Given the description of an element on the screen output the (x, y) to click on. 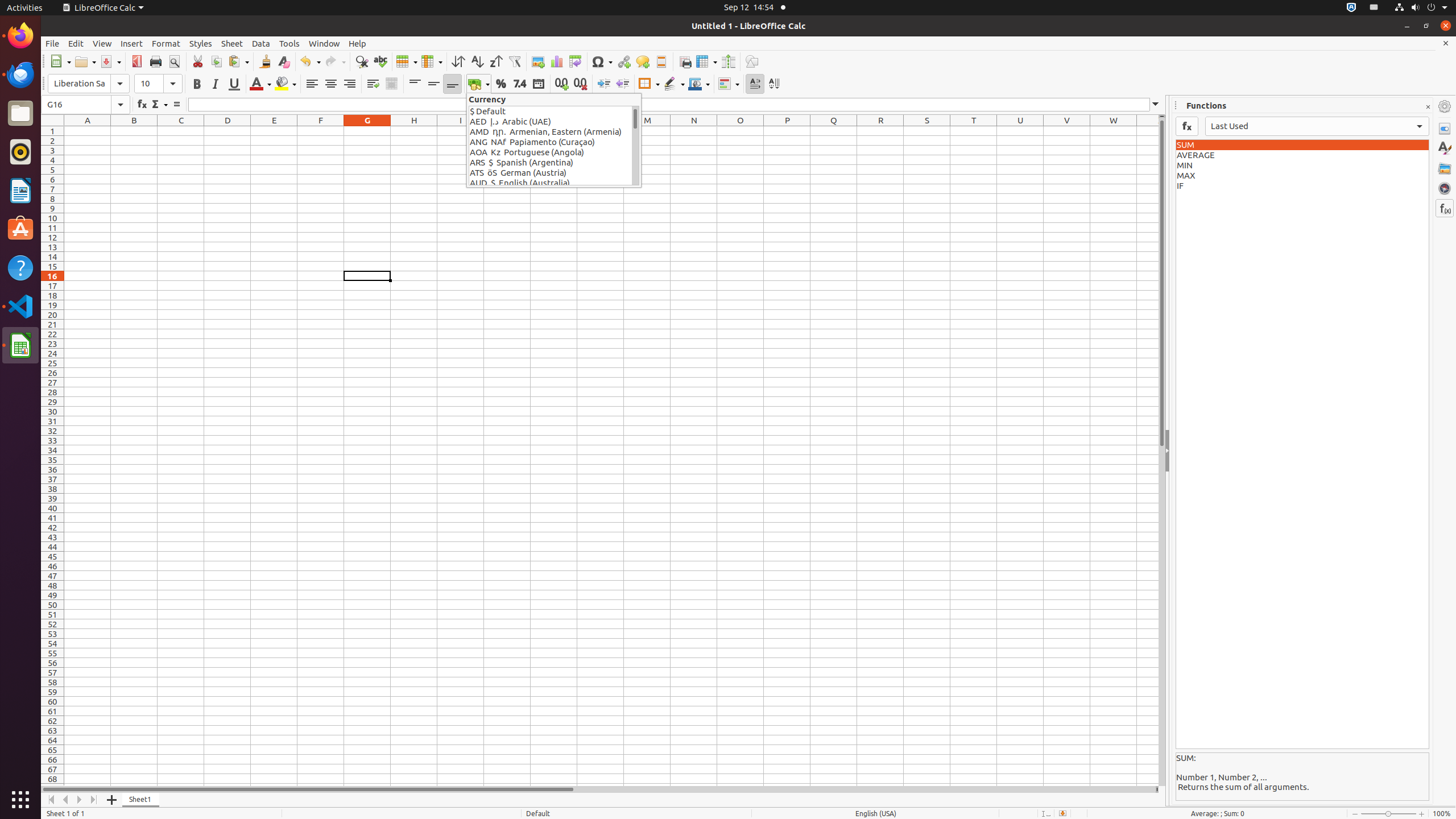
IF Element type: list-item (1302, 185)
Text direction from left to right Element type: toggle-button (754, 83)
MAX Element type: list-item (1302, 175)
Align Top Element type: push-button (414, 83)
Align Right Element type: push-button (349, 83)
